Given the description of an element on the screen output the (x, y) to click on. 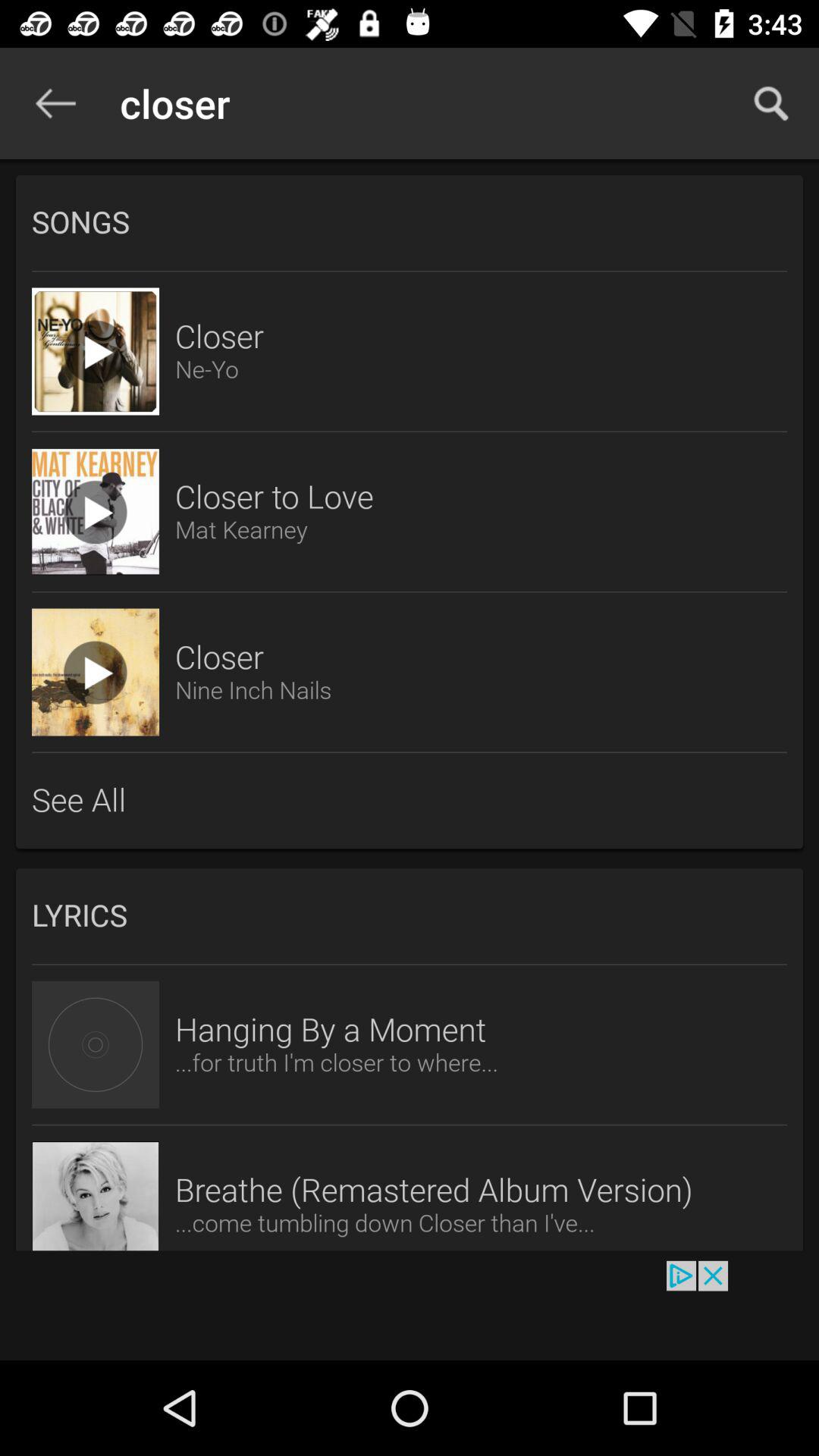
play the video (95, 671)
